Given the description of an element on the screen output the (x, y) to click on. 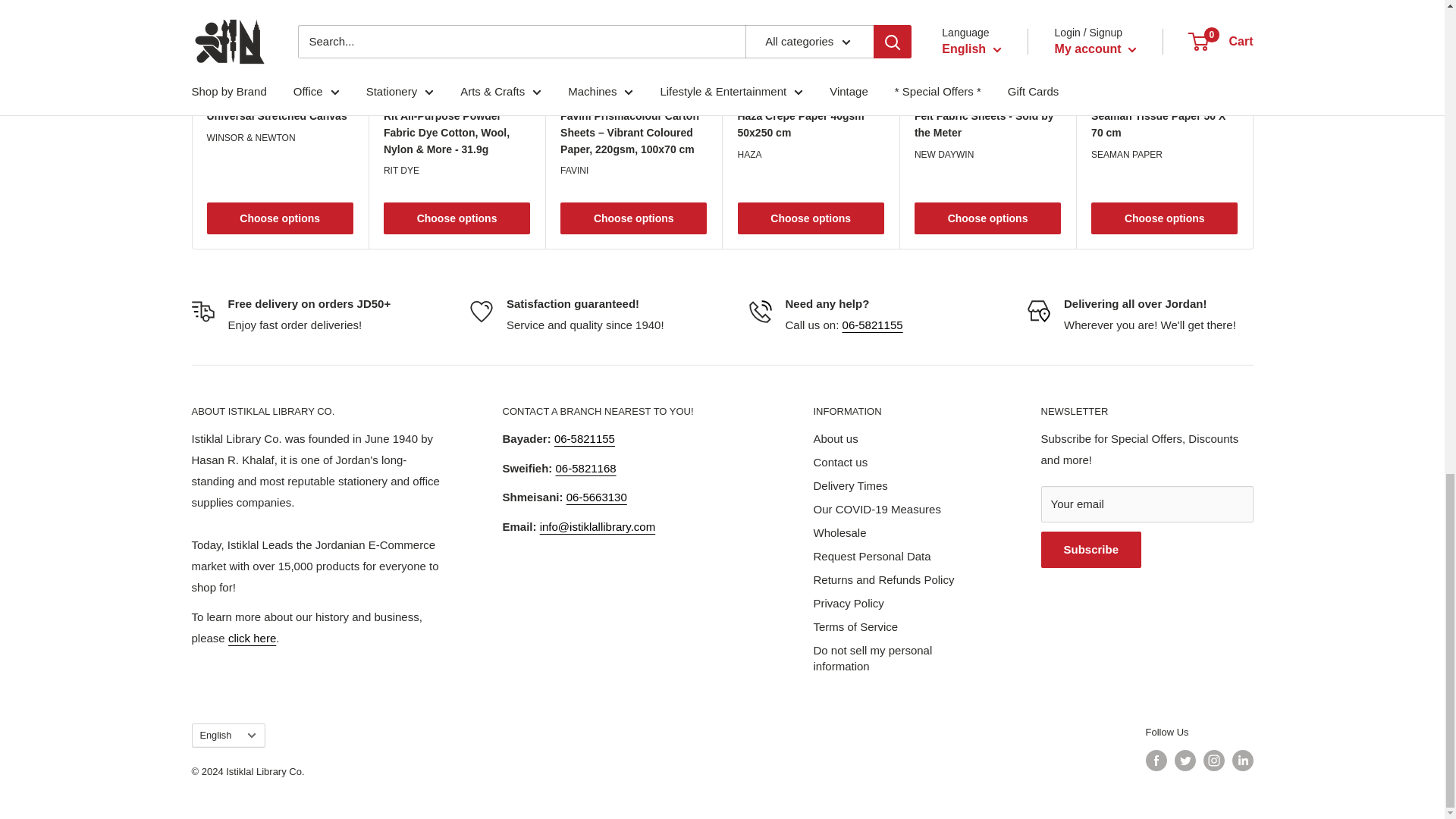
tel:065821155 (872, 324)
tel:065663130 (596, 496)
About us (252, 637)
tel:065821168 (585, 468)
tel:065821155 (584, 438)
